Given the description of an element on the screen output the (x, y) to click on. 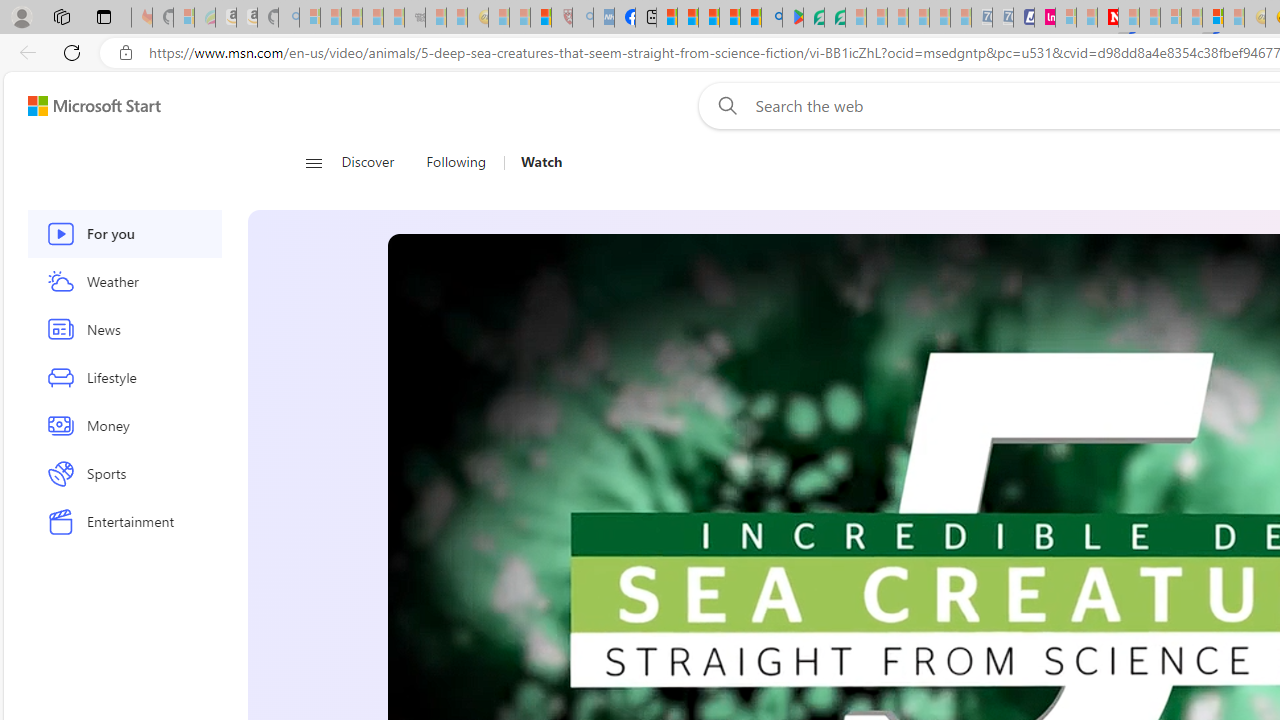
Class: button-glyph (313, 162)
Skip to footer (82, 105)
